Given the description of an element on the screen output the (x, y) to click on. 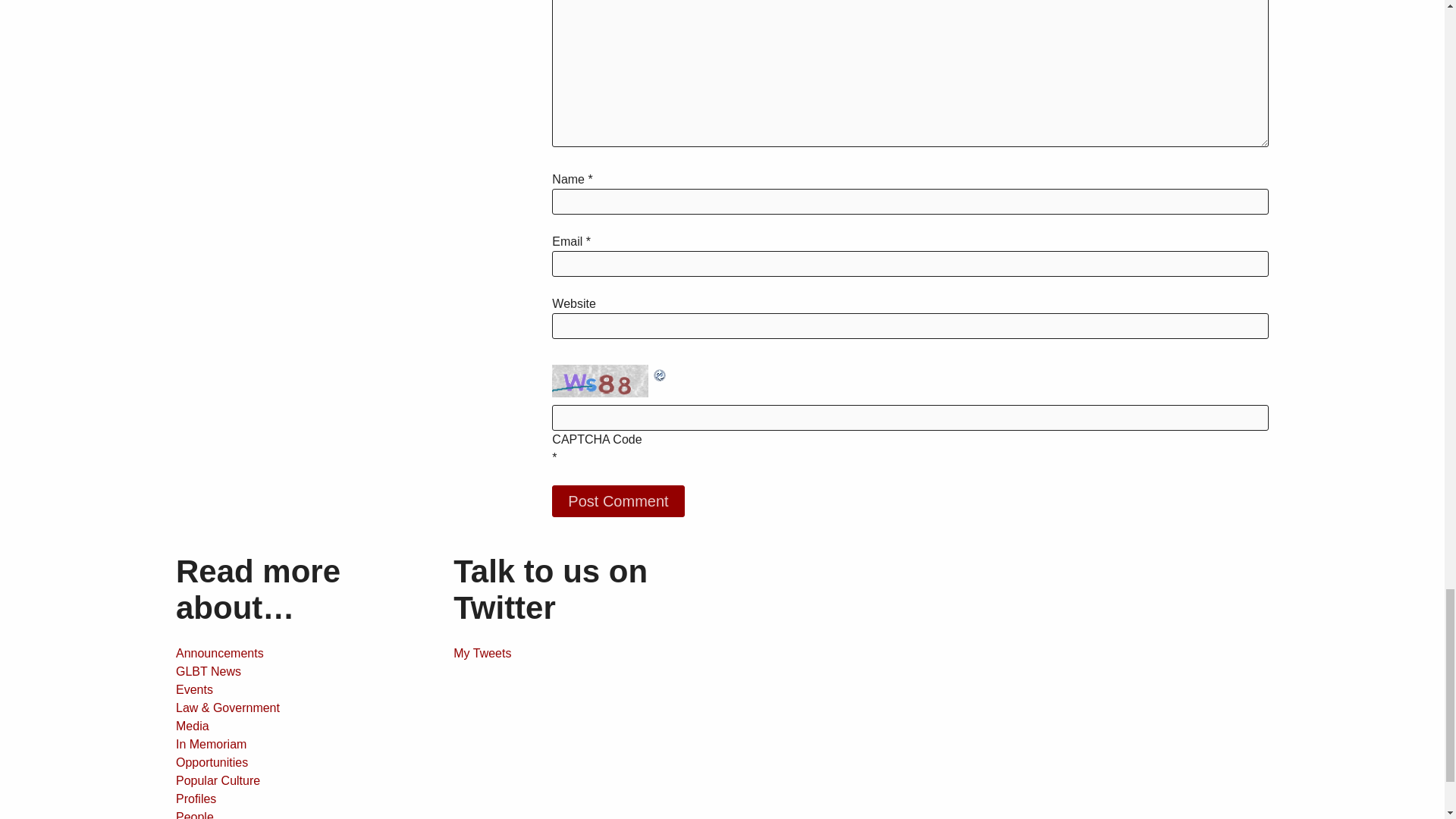
Opportunities (211, 762)
Popular Culture (218, 780)
My Tweets (481, 653)
Post Comment (617, 500)
CAPTCHA (601, 380)
Profiles (195, 798)
Announcements (219, 653)
Post Comment (617, 500)
In Memoriam (211, 744)
Events (194, 689)
Refresh (660, 373)
Media (192, 725)
GLBT News (208, 671)
People (195, 814)
